Given the description of an element on the screen output the (x, y) to click on. 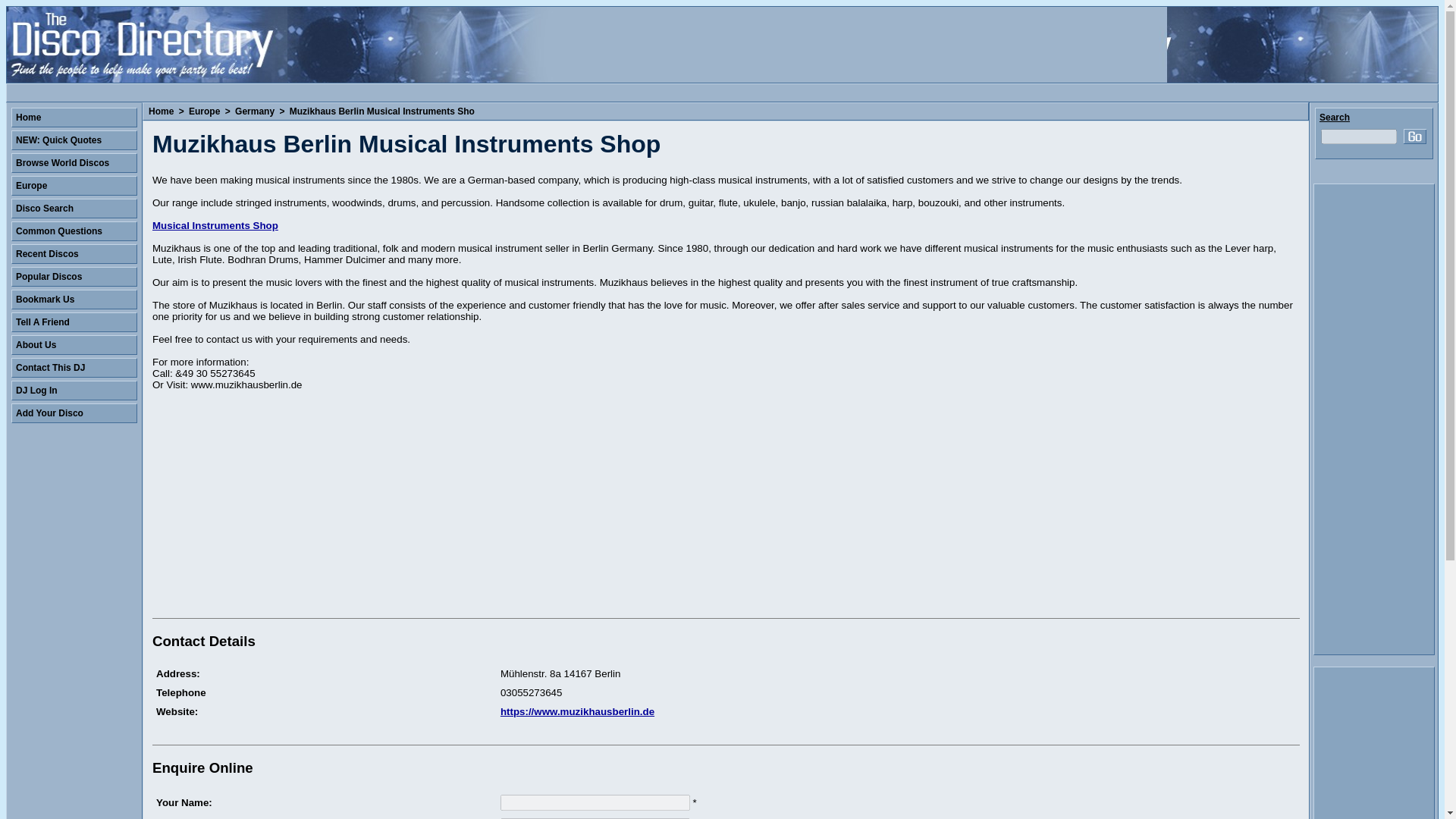
Bookmark our site (73, 299)
Add Your Disco to the Directory for free (73, 413)
Recently added Discos and DJs (73, 253)
Musical Instruments Shop (215, 225)
Home (73, 117)
Disco FAQs (73, 230)
Common Questions (73, 230)
Update your entry (73, 390)
Home (161, 110)
The most viewed Discos and DJs (73, 276)
DJ Log In (73, 390)
Browse World Discos (73, 162)
About Us (73, 344)
About the Mobile Disco Directory (73, 344)
Browse through DJs around the world (73, 162)
